Given the description of an element on the screen output the (x, y) to click on. 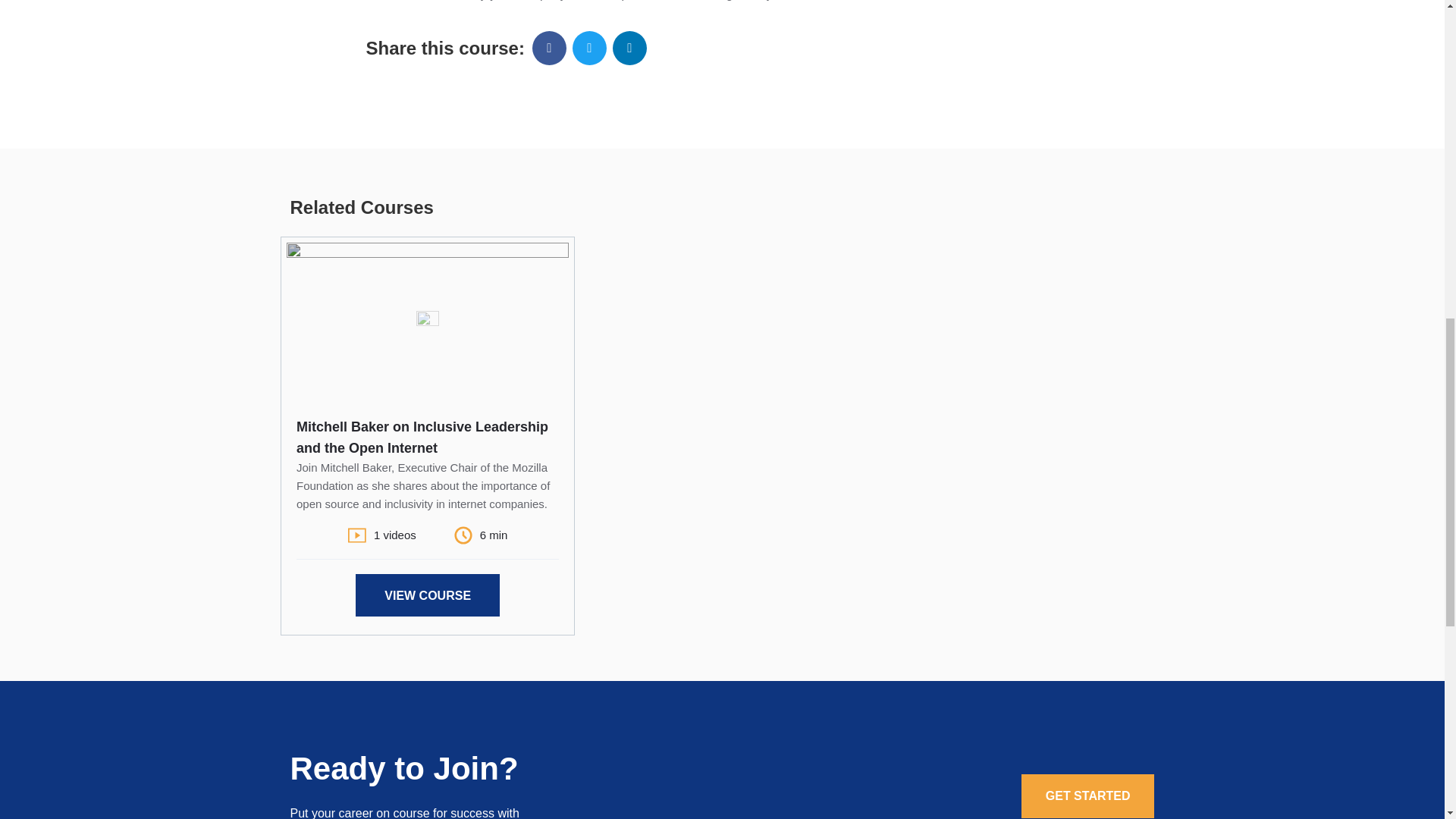
Mitchell Baker on Inclusive Leadership and the Open Internet (422, 437)
VIEW COURSE (427, 595)
